Given the description of an element on the screen output the (x, y) to click on. 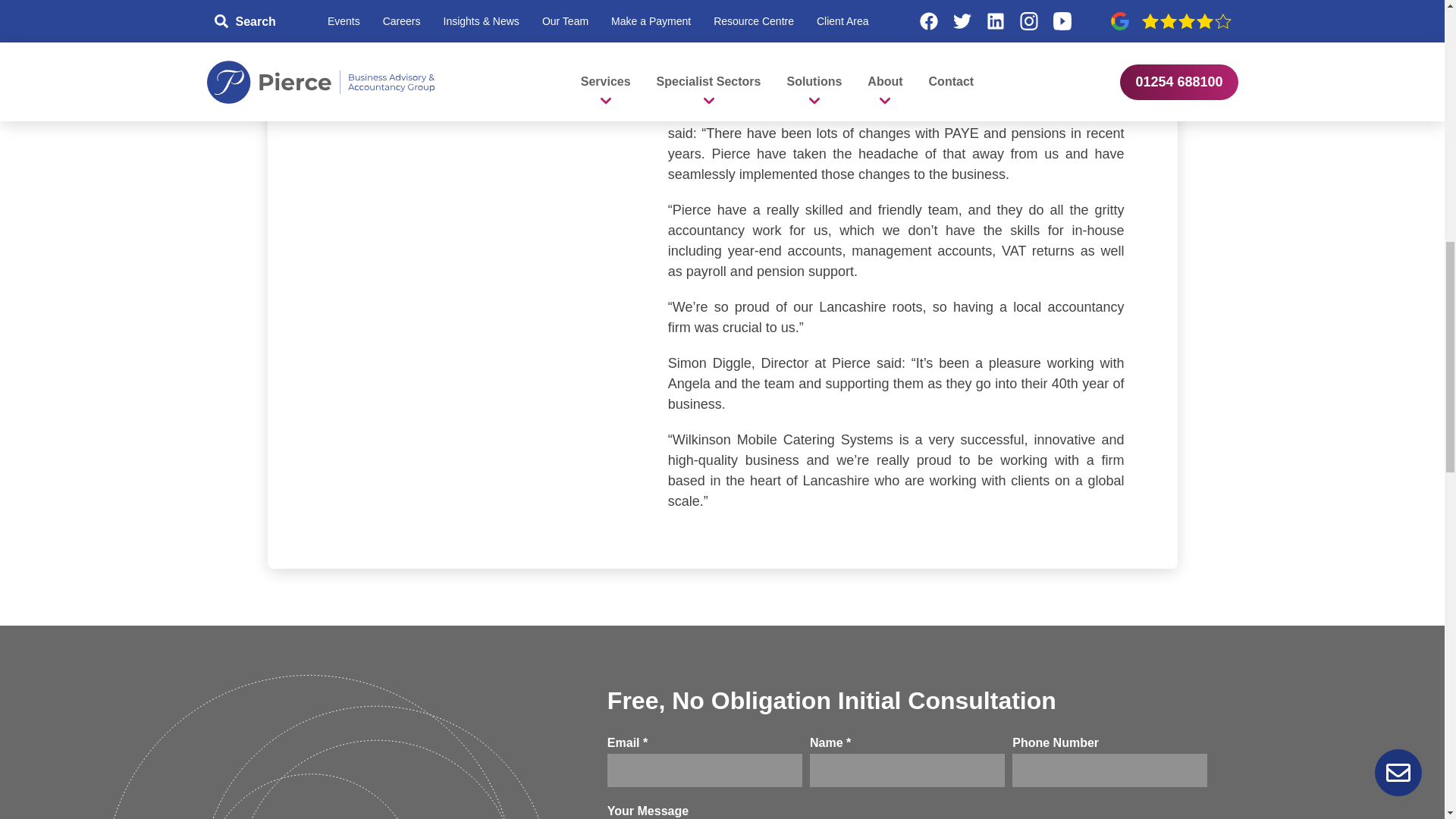
Share via LinkedIn (469, 24)
Share via Twitter (435, 24)
Share via Facebook (402, 24)
